Given the description of an element on the screen output the (x, y) to click on. 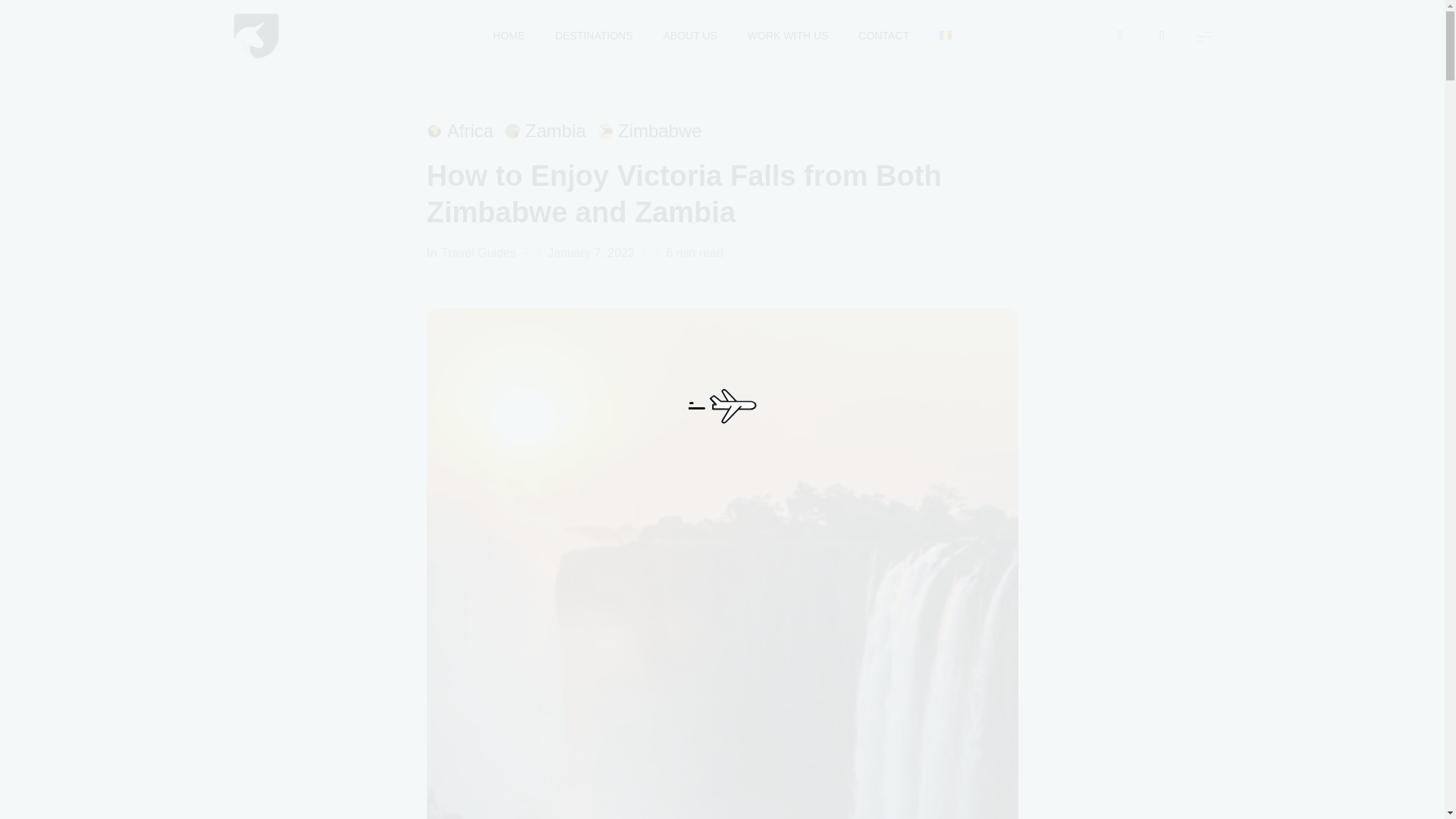
Zambia (545, 130)
Zimbabwe (648, 130)
Travel Guides (478, 253)
Africa (459, 130)
WORK WITH US (788, 36)
DESTINATIONS (592, 36)
